Given the description of an element on the screen output the (x, y) to click on. 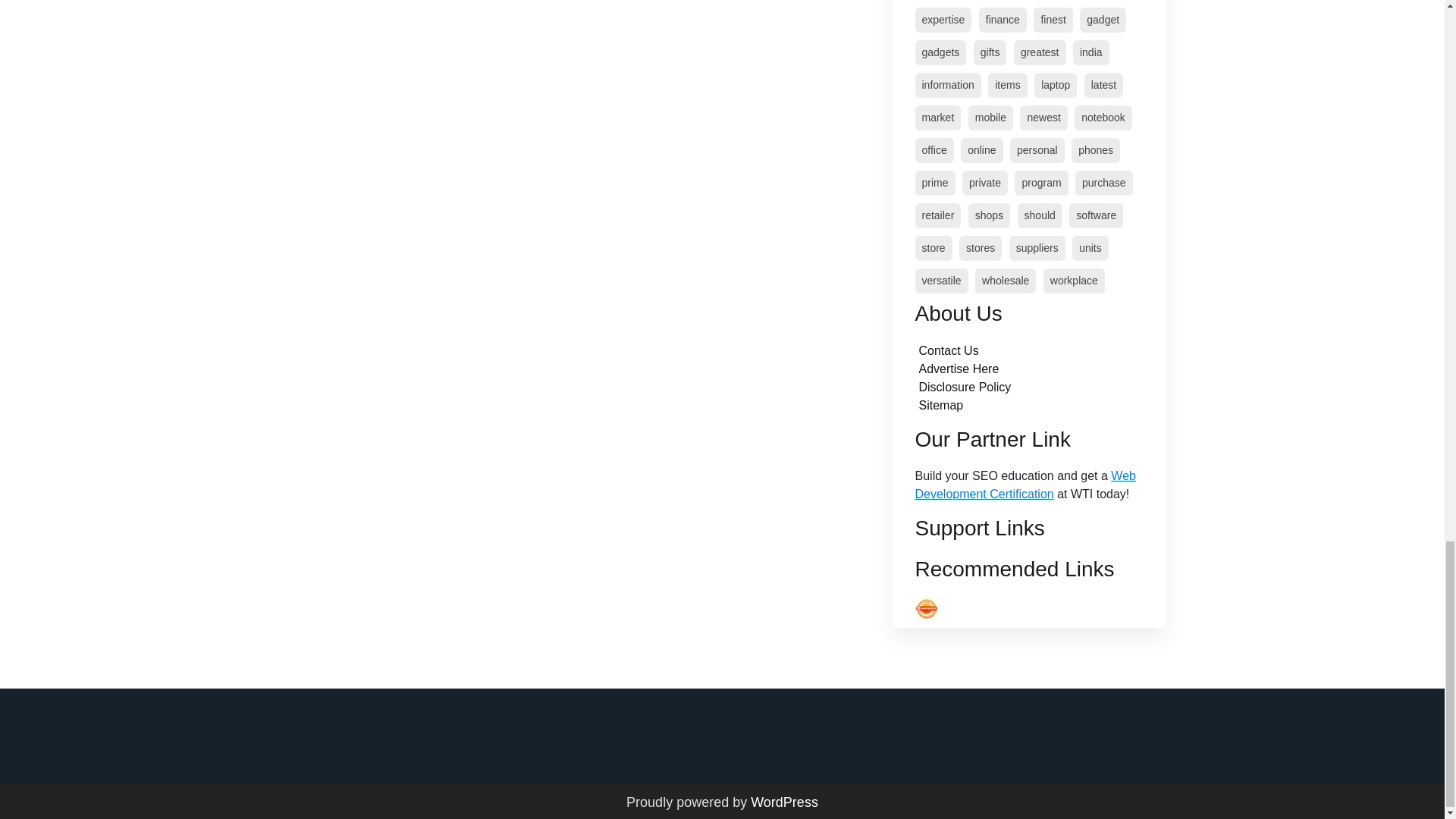
Seedbacklink (925, 608)
